Given the description of an element on the screen output the (x, y) to click on. 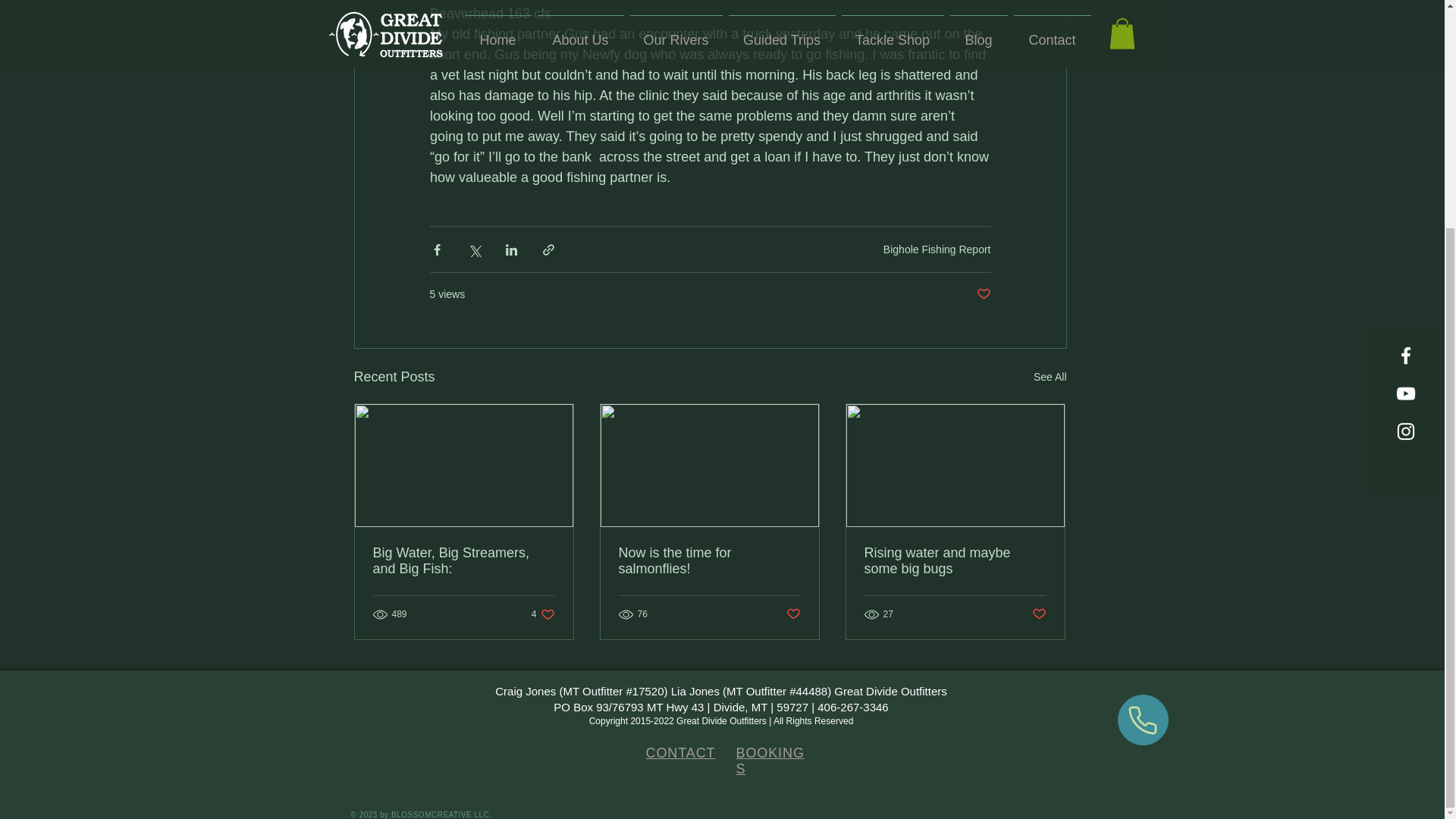
See All (1050, 377)
Bighole Fishing Report (937, 249)
Post not marked as liked (983, 294)
